Given the description of an element on the screen output the (x, y) to click on. 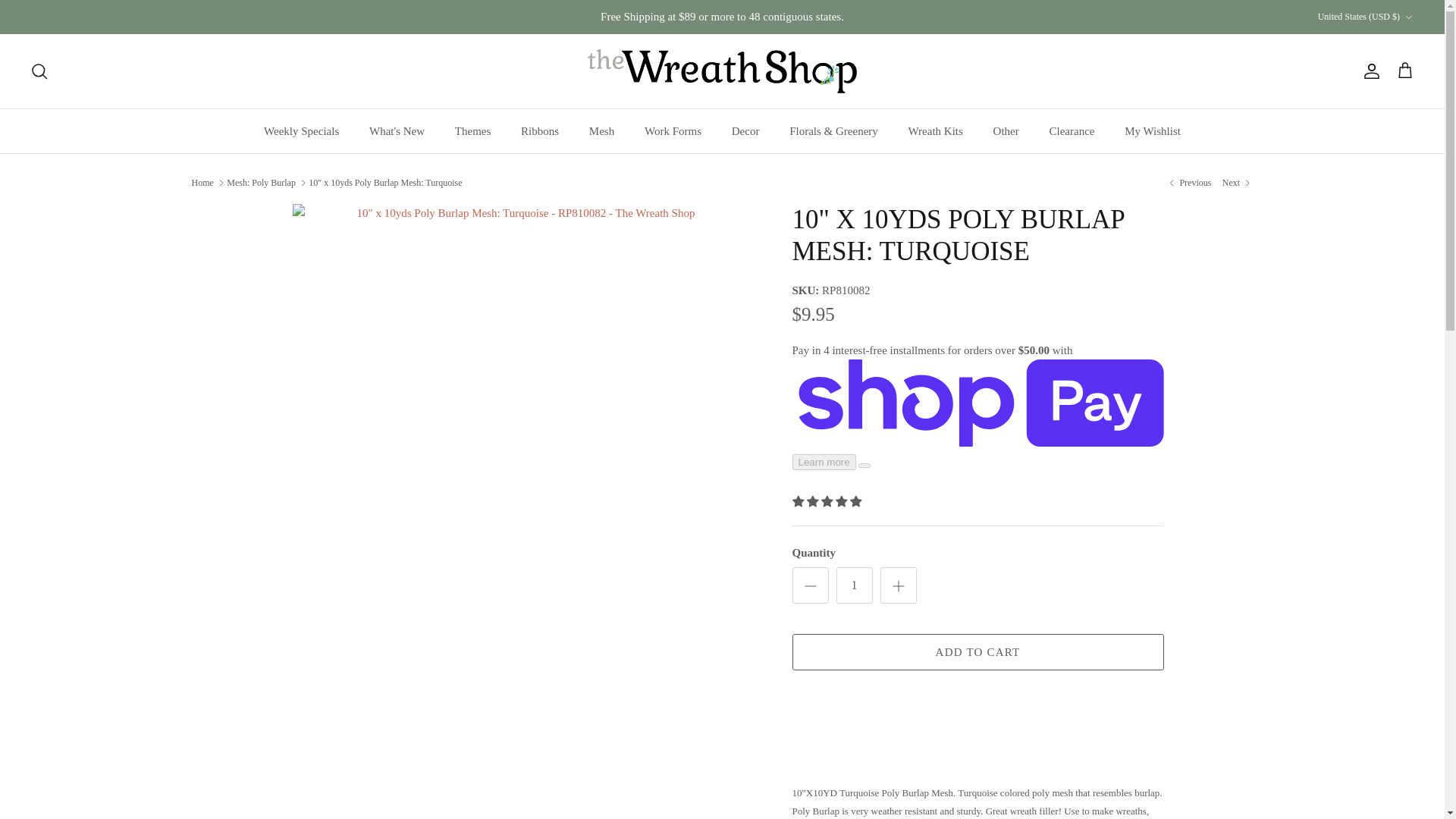
Down (1408, 17)
Search (39, 71)
1 (853, 585)
Plus (897, 586)
Minus (809, 586)
10" x 10yds Poly Burlap Mesh: Natural (1188, 182)
The Wreath Shop (722, 71)
10" x 10yds Poly Burlap Mesh: Black (1238, 182)
